Given the description of an element on the screen output the (x, y) to click on. 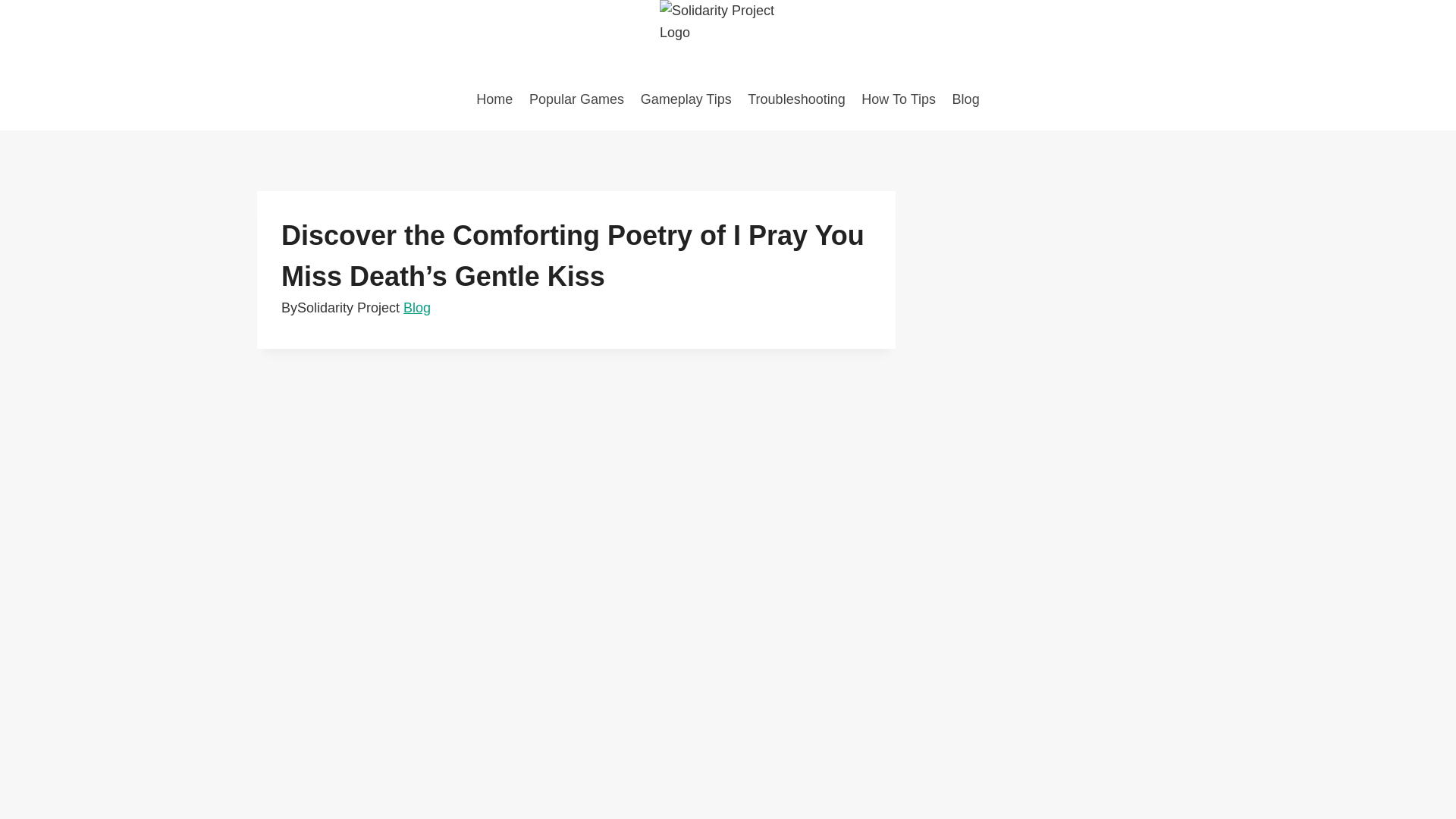
Blog (965, 98)
Troubleshooting (796, 98)
Gameplay Tips (685, 98)
Popular Games (576, 98)
Home (494, 98)
How To Tips (898, 98)
Blog (416, 307)
